Given the description of an element on the screen output the (x, y) to click on. 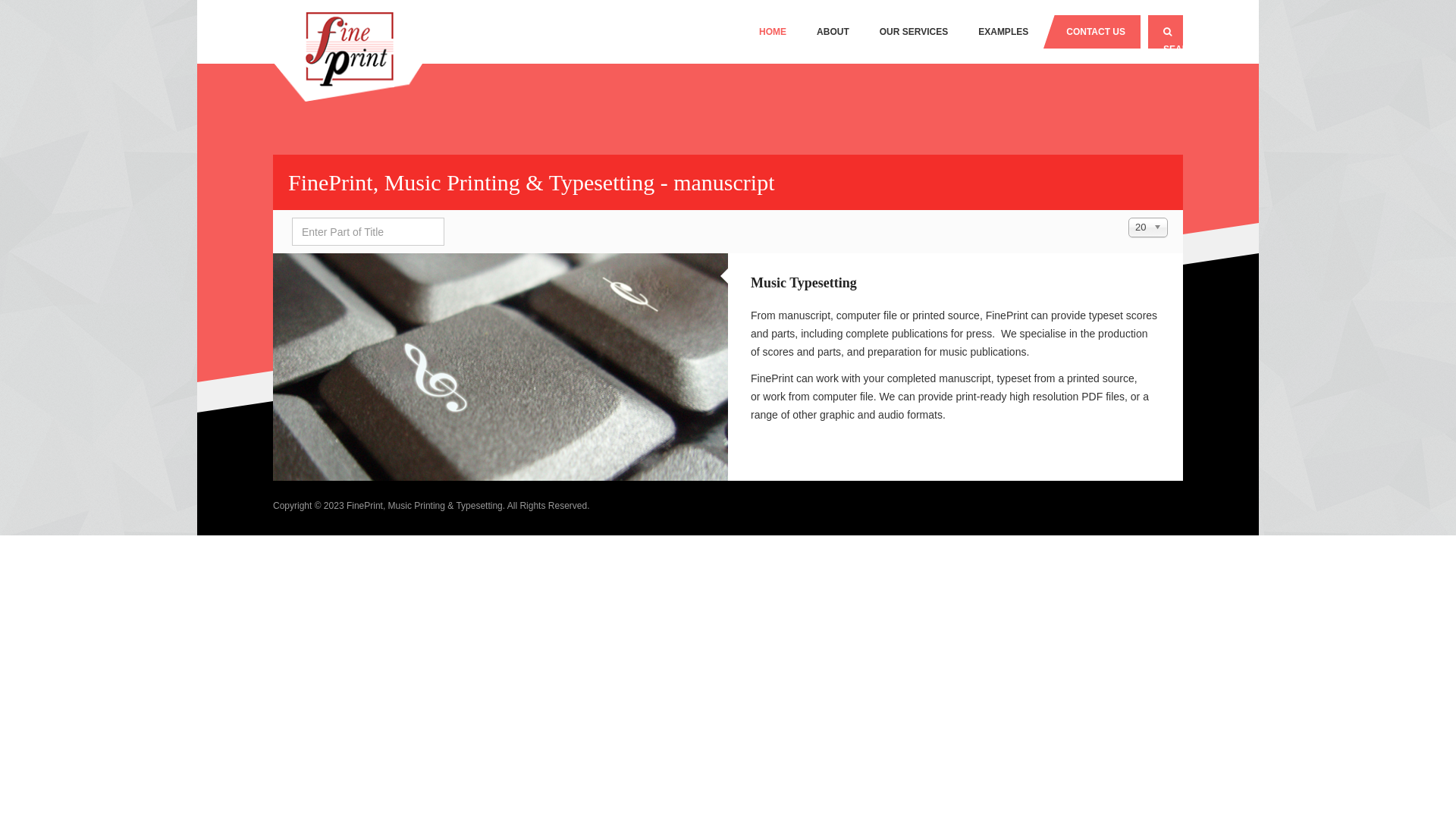
ABOUT Element type: text (832, 31)
FinePrint, Music Printing & Typesetting Element type: hover (348, 51)
OUR SERVICES Element type: text (913, 31)
20 Element type: text (1147, 227)
EXAMPLES Element type: text (1003, 31)
Enter all or part of the title to search for. Element type: hover (367, 231)
CONTACT US Element type: text (1091, 31)
Music Typesetting Element type: text (803, 282)
SEARCH Element type: text (1165, 31)
HOME Element type: text (772, 31)
